Given the description of an element on the screen output the (x, y) to click on. 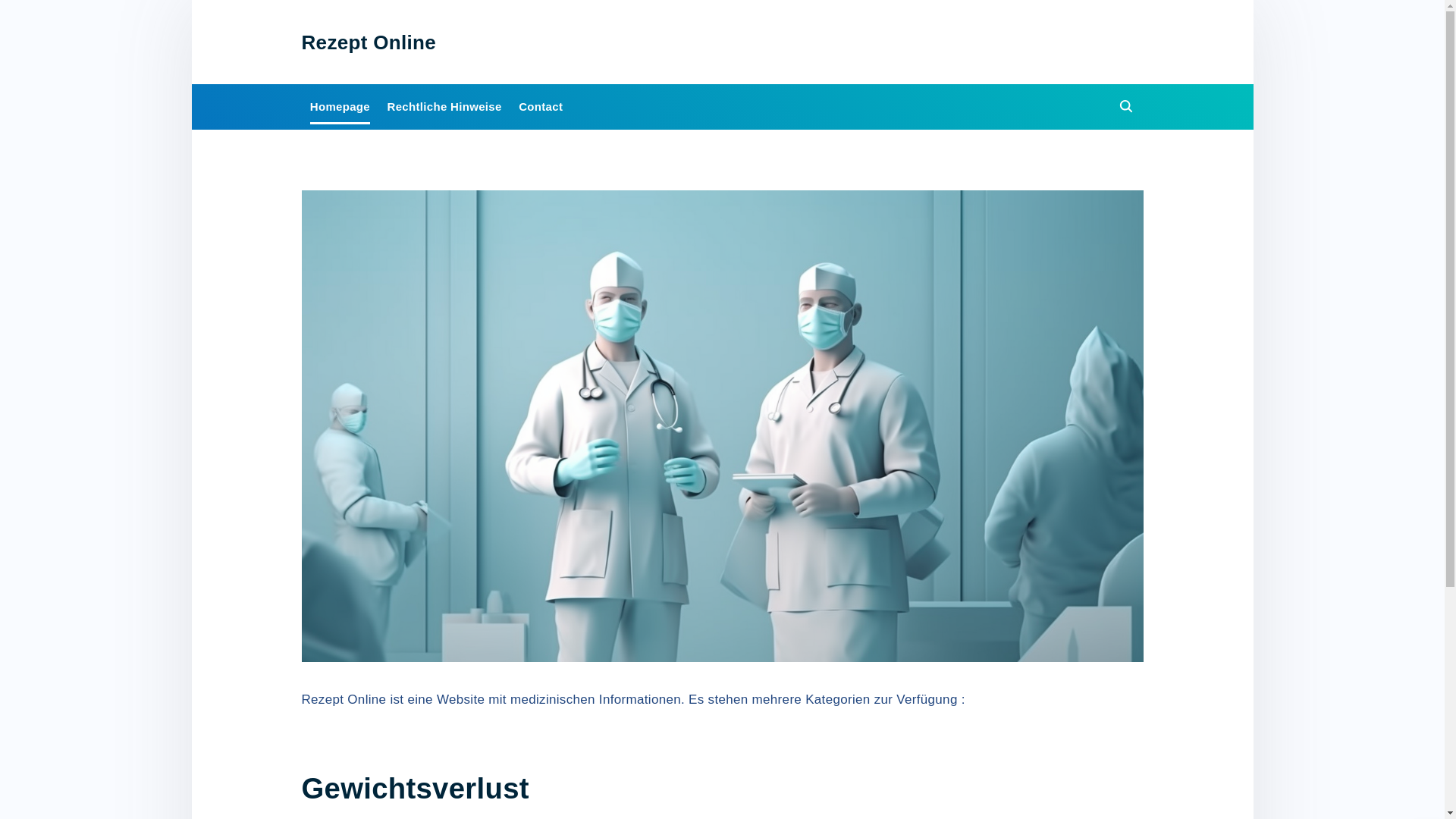
Contact Element type: text (540, 106)
Homepage Element type: text (340, 106)
Rezept Online Element type: text (368, 41)
Rechtliche Hinweise Element type: text (443, 106)
